Given the description of an element on the screen output the (x, y) to click on. 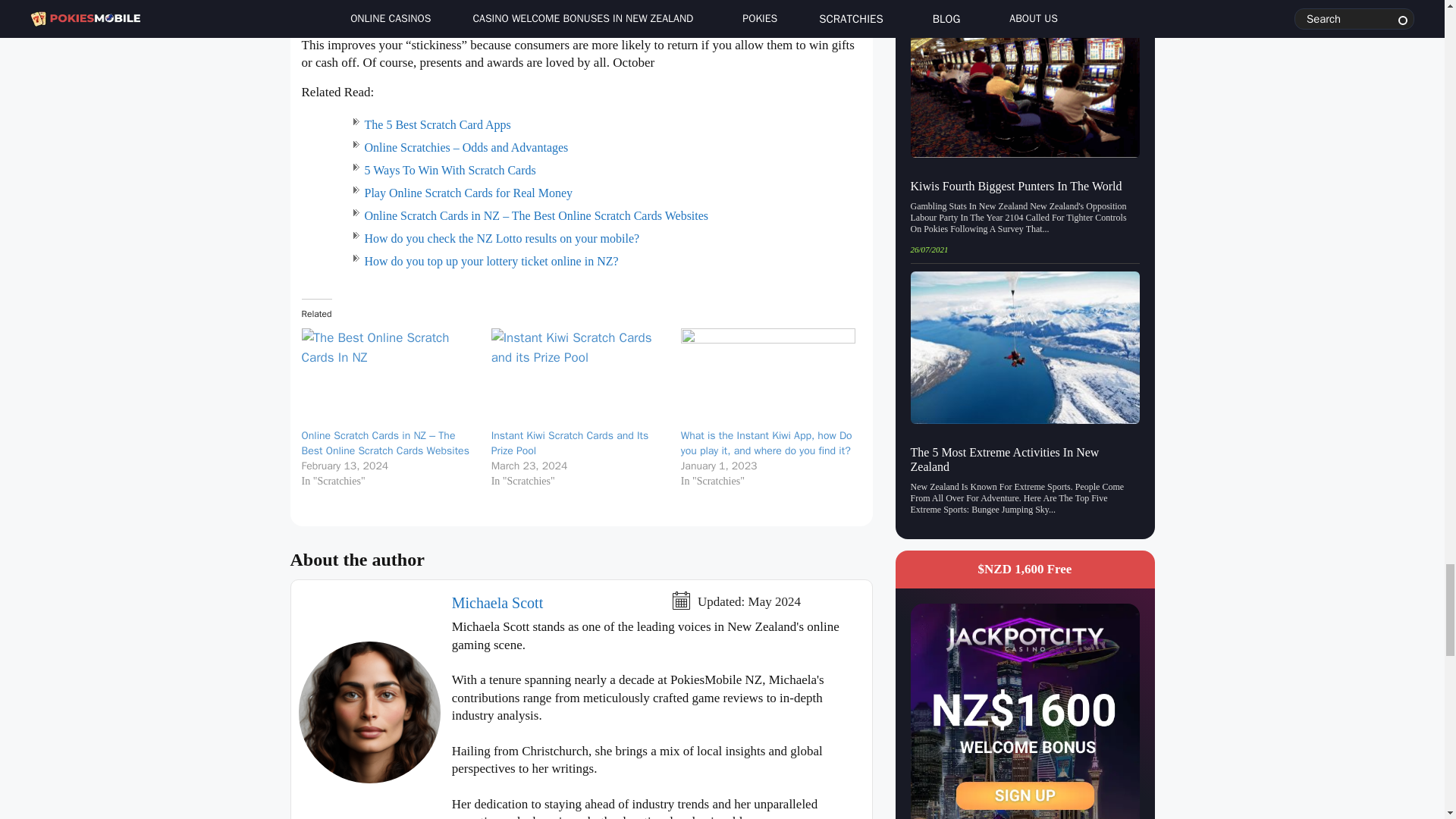
Instant Kiwi Scratch Cards and Its Prize Pool (578, 378)
Instant Kiwi Scratch Cards and Its Prize Pool (570, 443)
